Given the description of an element on the screen output the (x, y) to click on. 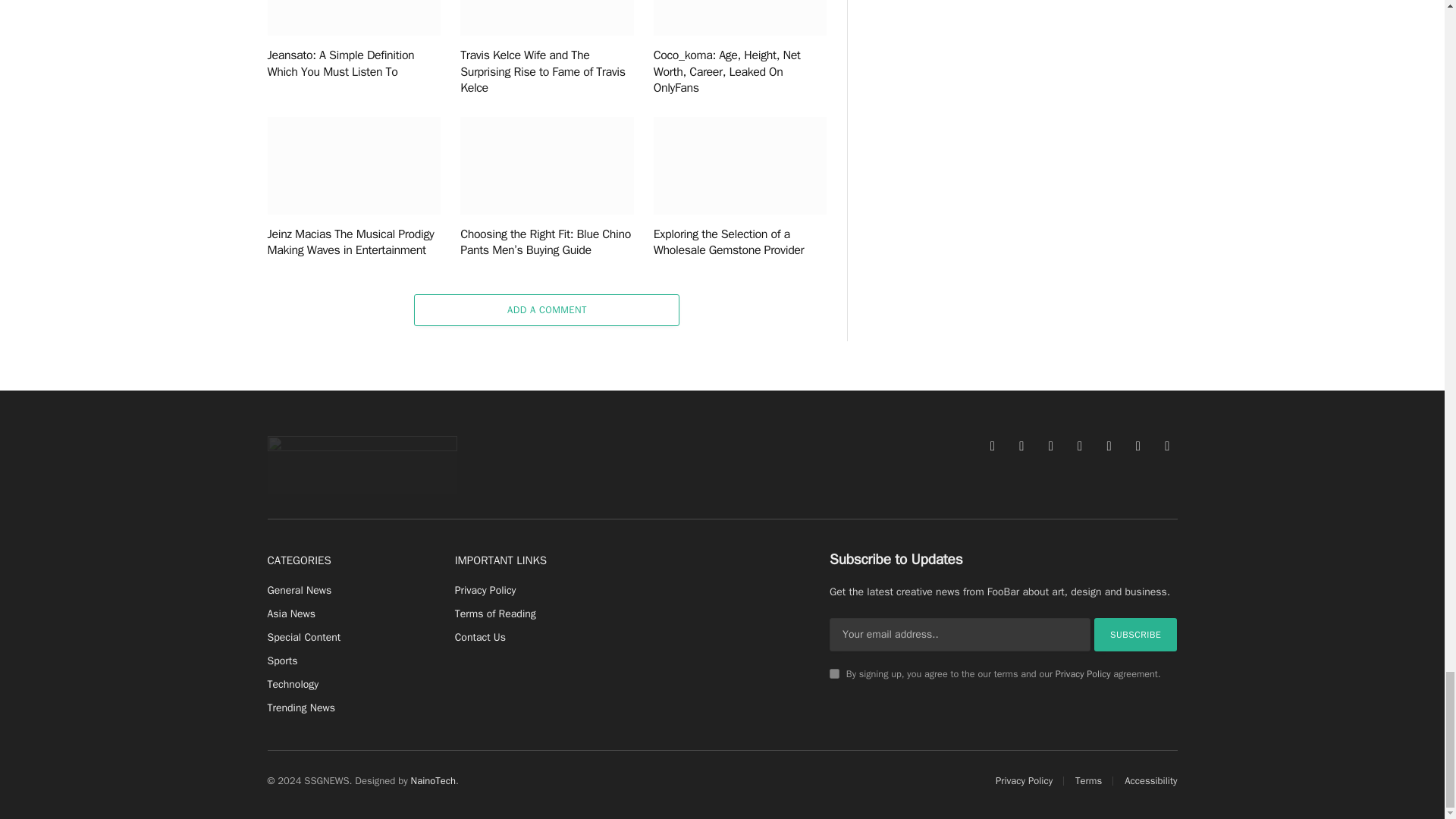
on (834, 673)
Subscribe (1135, 634)
Jeansato: A Simple Definition Which You Must Listen To (353, 18)
